Given the description of an element on the screen output the (x, y) to click on. 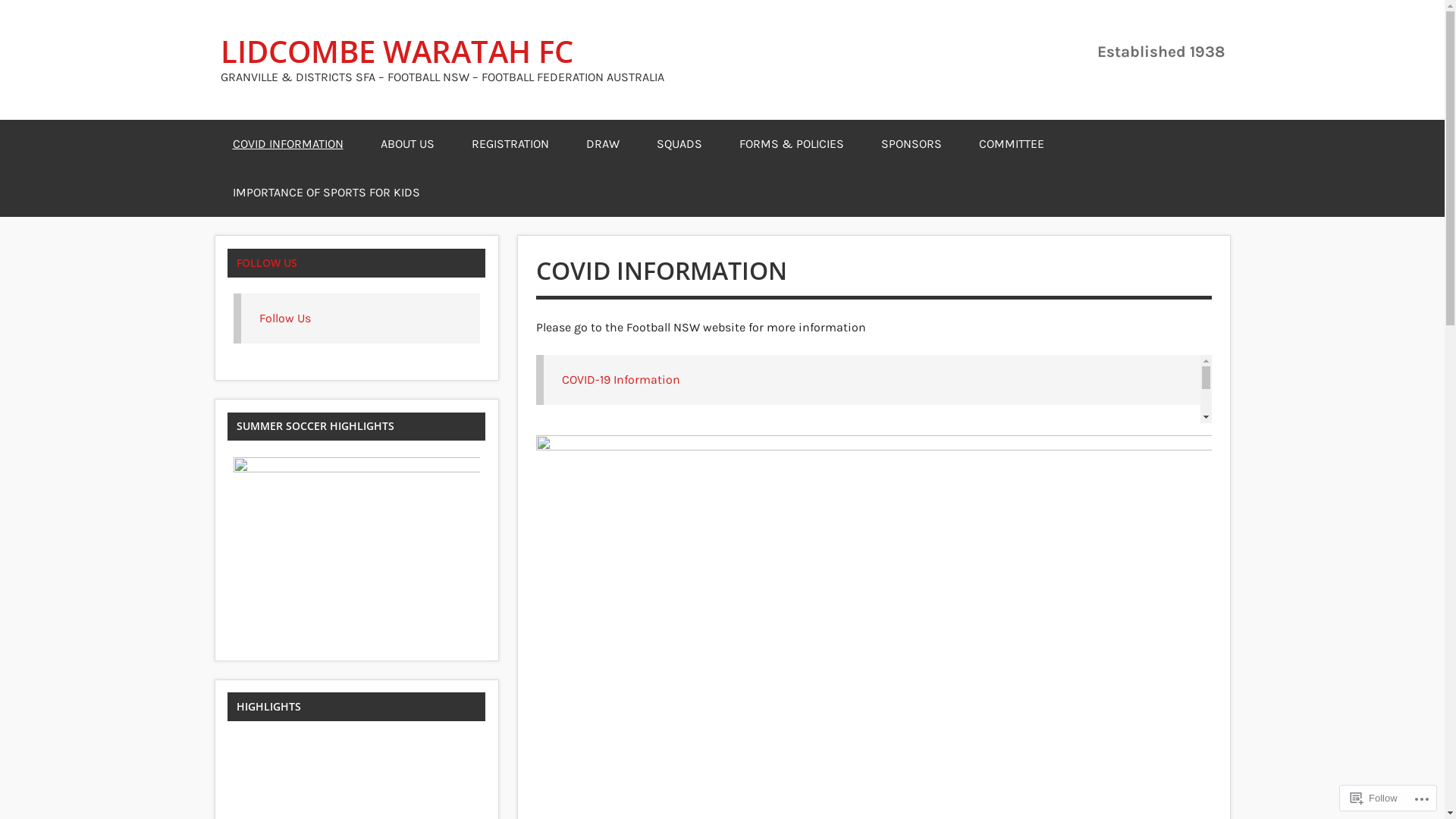
COVID INFORMATION Element type: text (286, 143)
Follow Us Element type: text (284, 317)
IMPORTANCE OF SPORTS FOR KIDS Element type: text (325, 192)
REGISTRATION Element type: text (510, 143)
SPONSORS Element type: text (911, 143)
SQUADS Element type: text (679, 143)
LIDCOMBE WARATAH FC Element type: text (441, 51)
COVID-19 Information Element type: text (620, 379)
ABOUT US Element type: text (407, 143)
FORMS & POLICIES Element type: text (790, 143)
COMMITTEE Element type: text (1010, 143)
FOLLOW US Element type: text (266, 262)
DRAW Element type: text (602, 143)
Follow Element type: text (1373, 797)
